Given the description of an element on the screen output the (x, y) to click on. 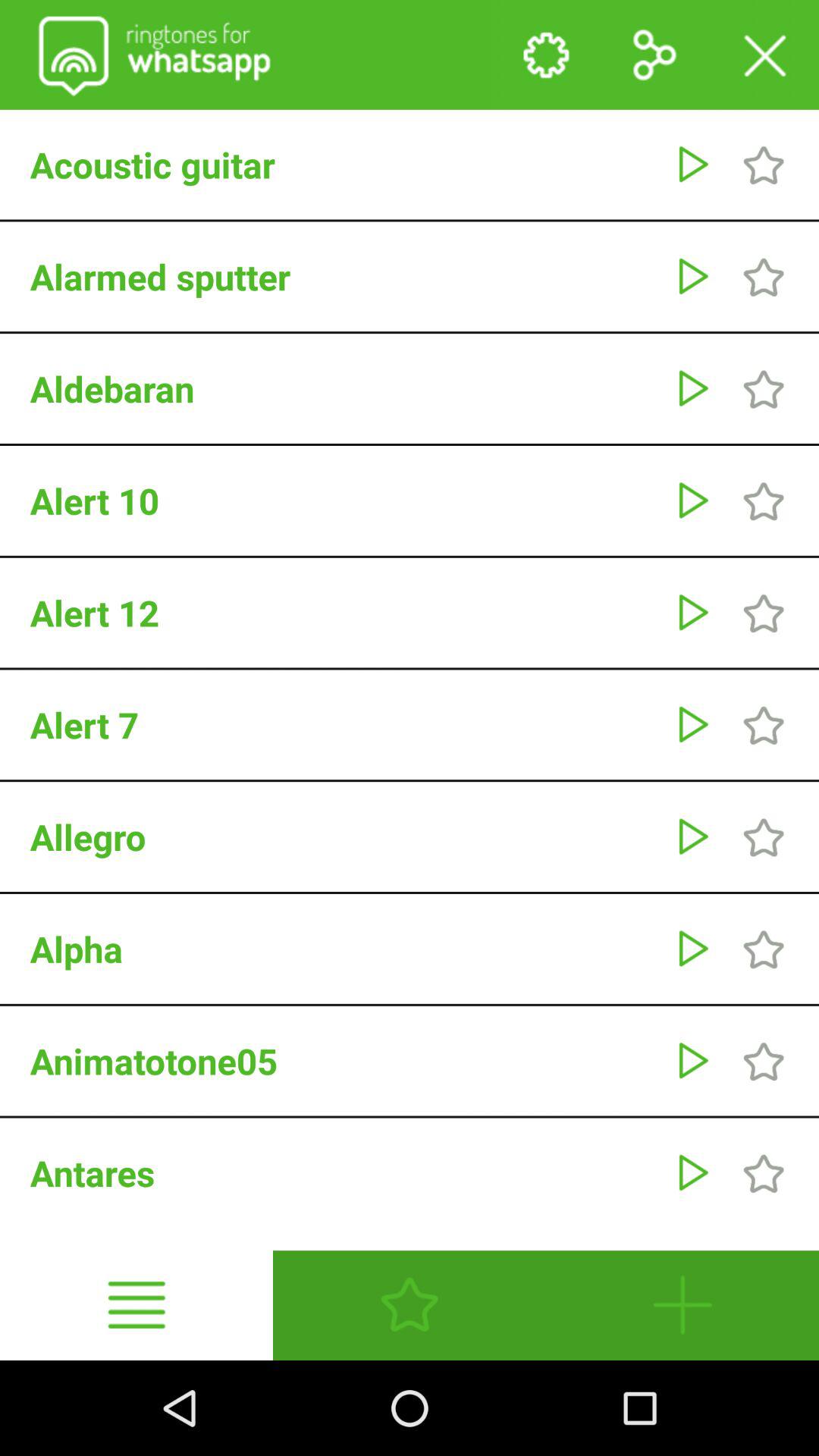
swipe to the animatotone05 item (344, 1060)
